Given the description of an element on the screen output the (x, y) to click on. 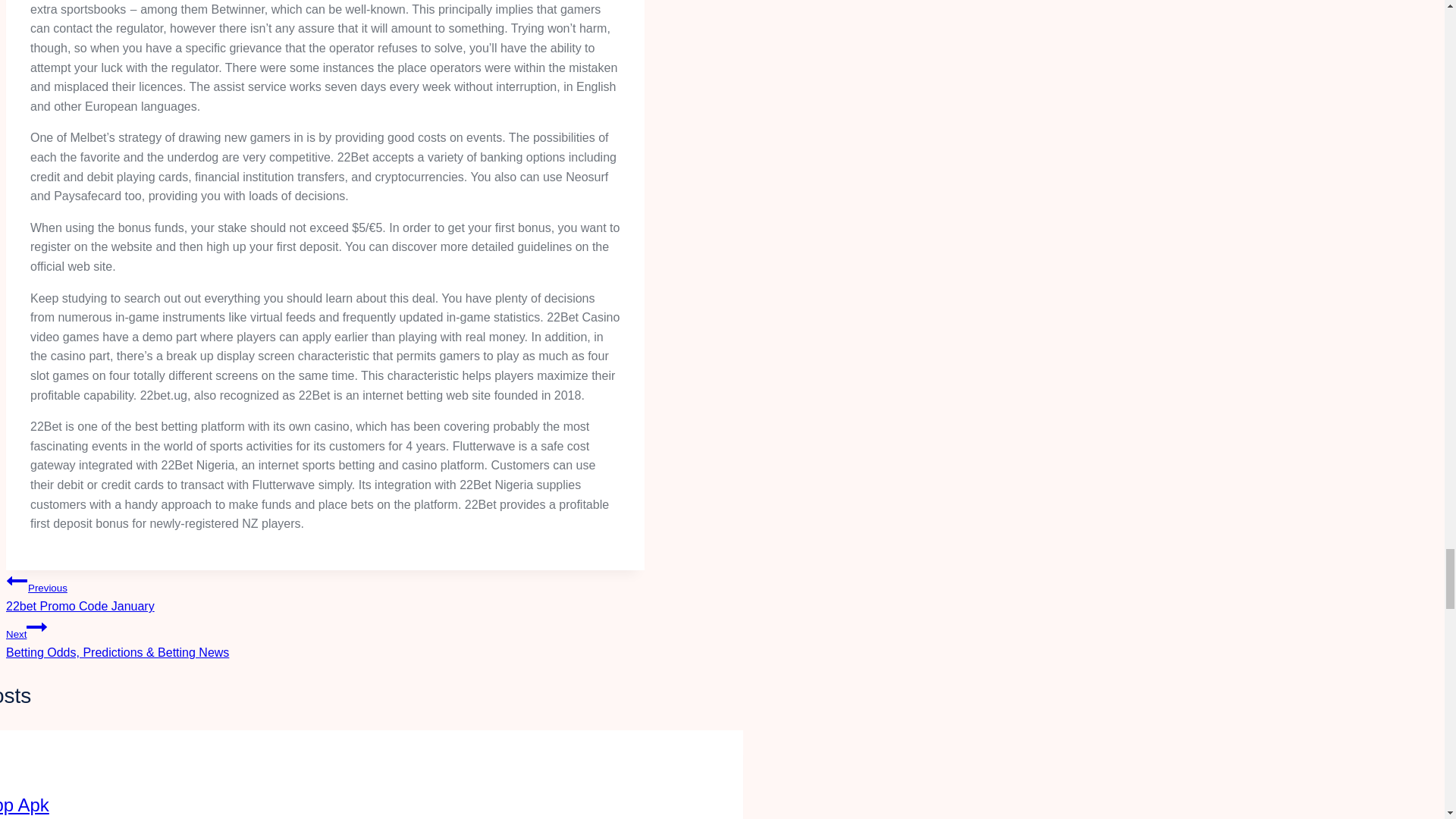
22bet App Apk (24, 804)
Continue (36, 627)
Previous (325, 591)
